Given the description of an element on the screen output the (x, y) to click on. 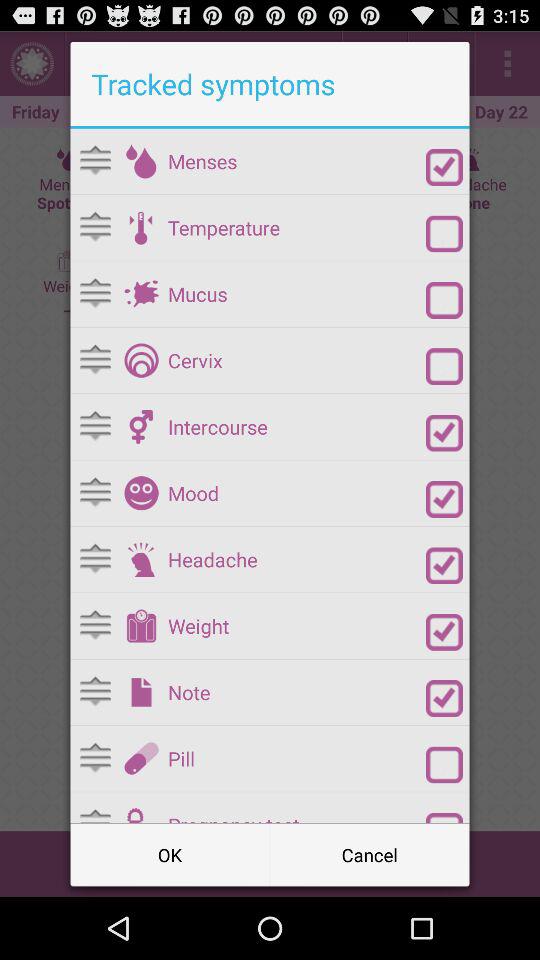
this use select items (444, 764)
